Given the description of an element on the screen output the (x, y) to click on. 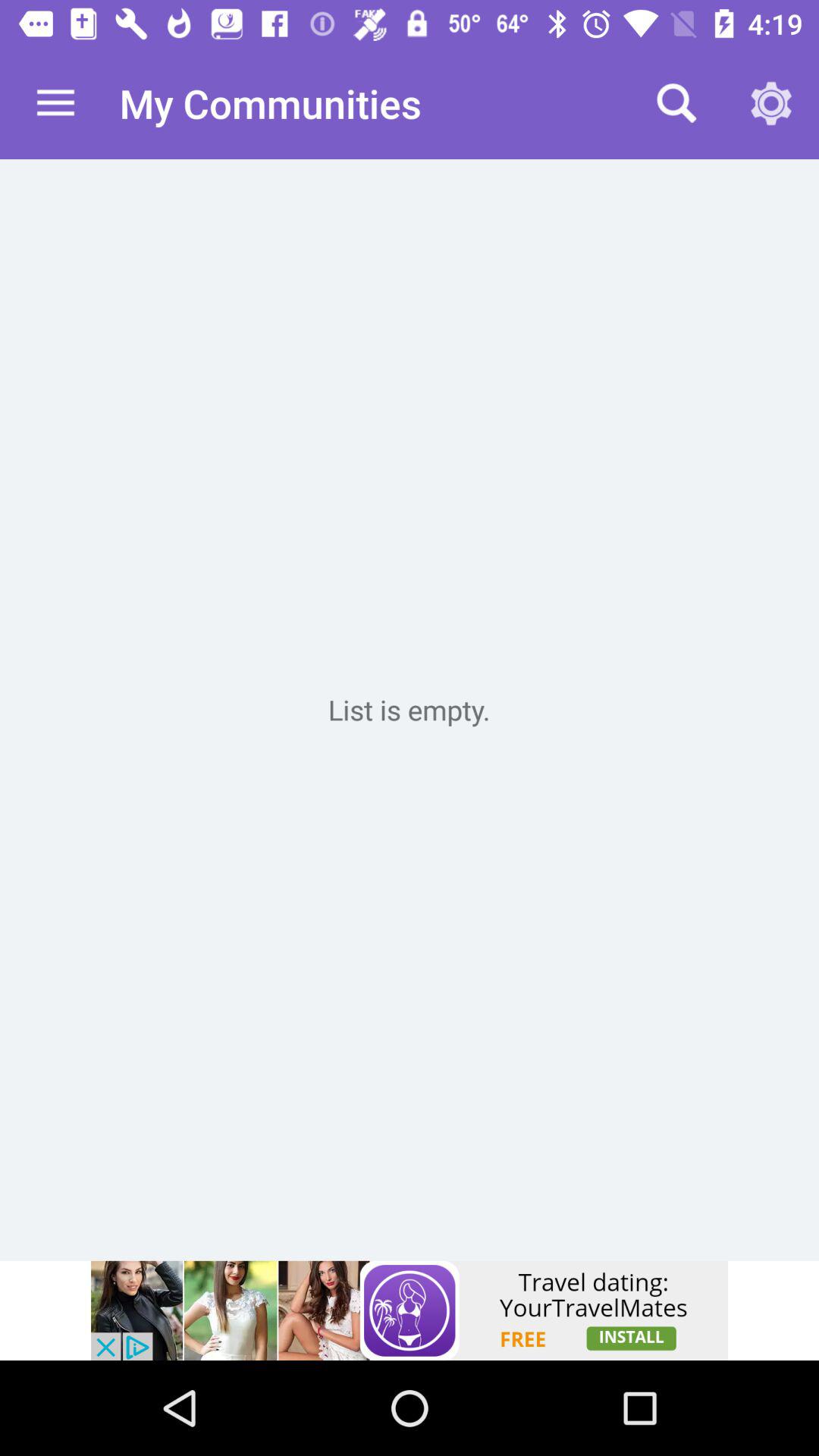
click on advertisements (409, 1310)
